Given the description of an element on the screen output the (x, y) to click on. 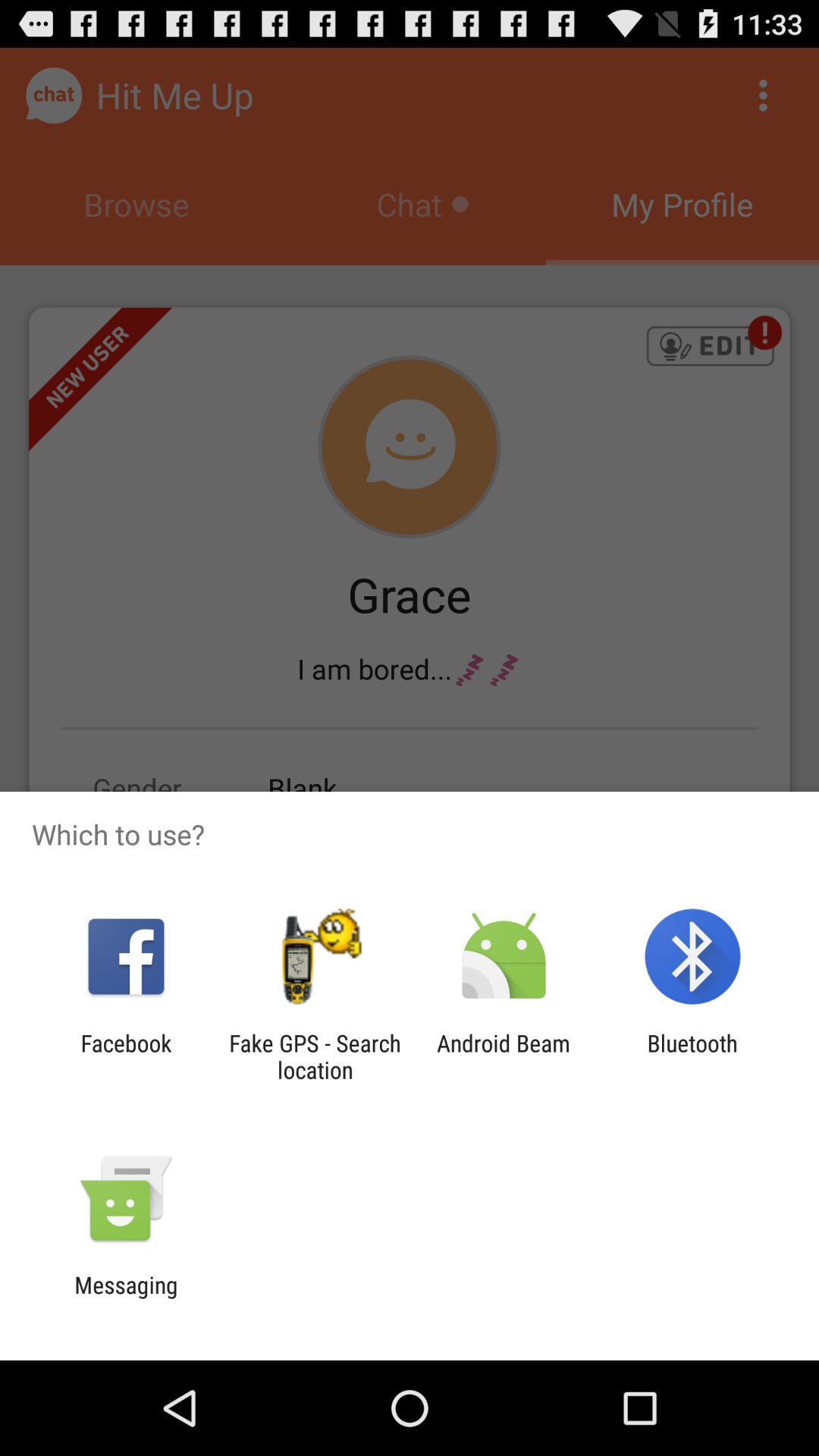
click the bluetooth icon (692, 1056)
